Given the description of an element on the screen output the (x, y) to click on. 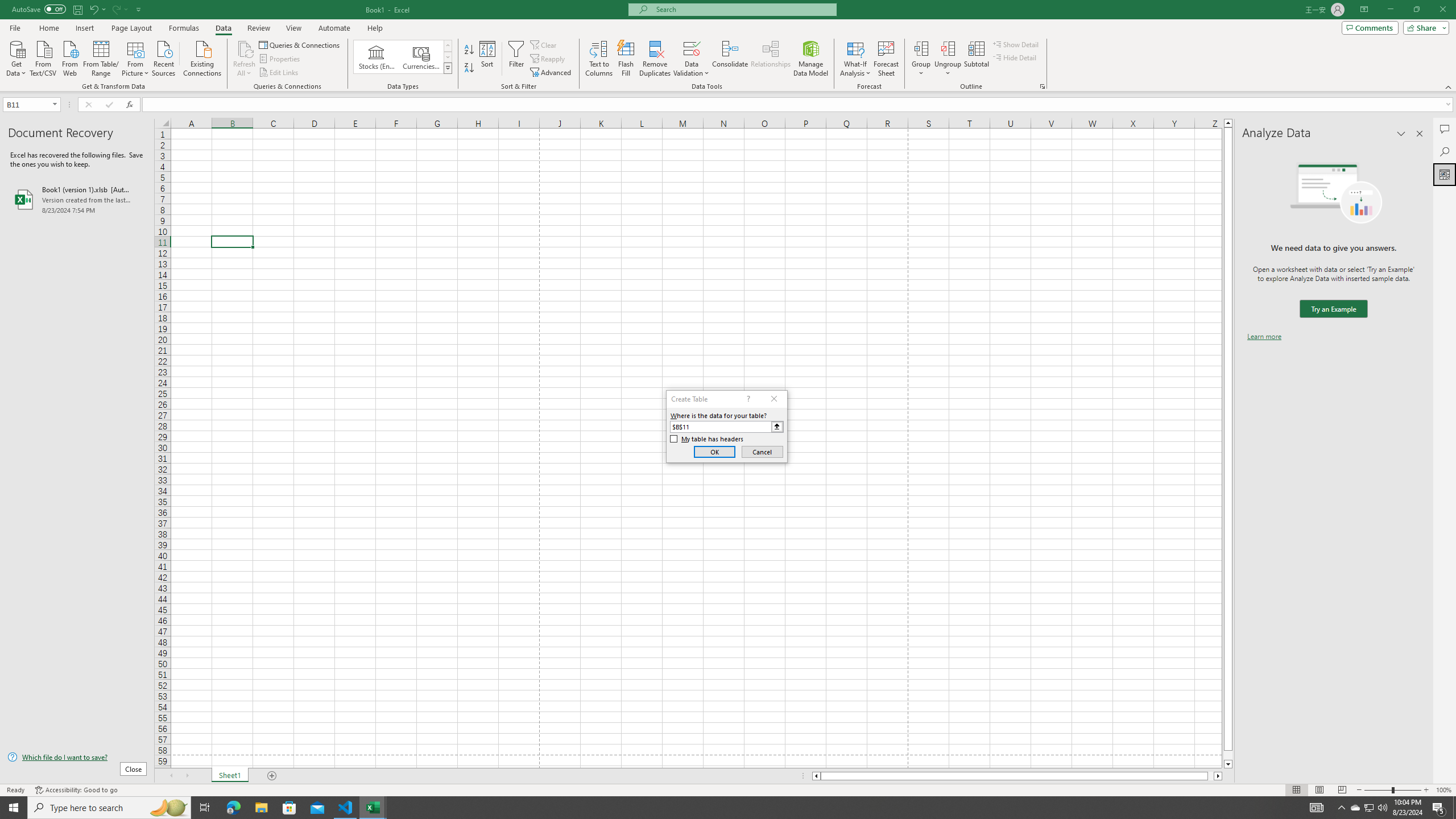
Advanced... (551, 72)
Recent Sources (163, 57)
Sort Z to A (469, 67)
Get Data (16, 57)
Sort A to Z (469, 49)
